Given the description of an element on the screen output the (x, y) to click on. 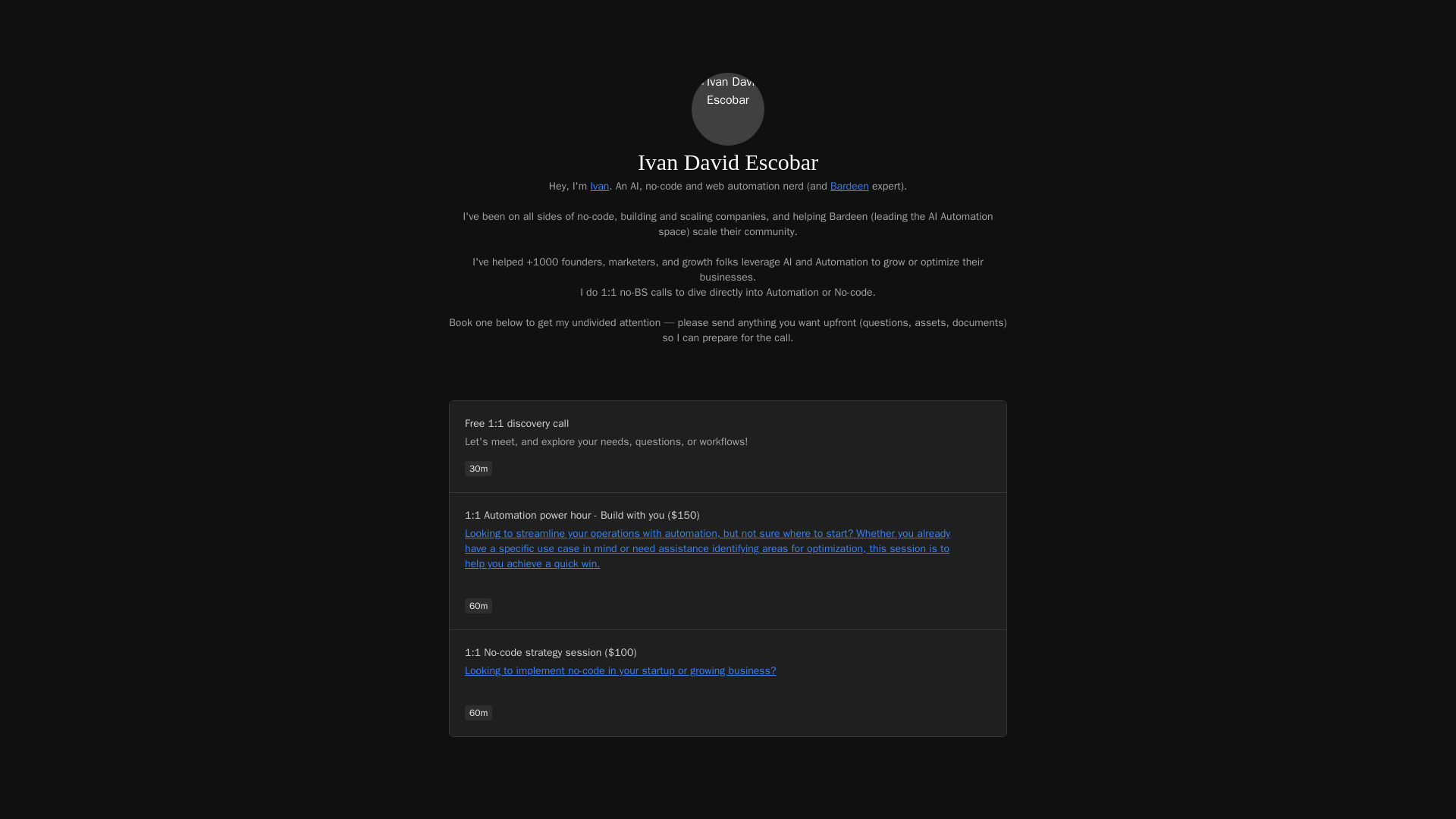
Bardeen (849, 185)
Ivan (598, 185)
